Given the description of an element on the screen output the (x, y) to click on. 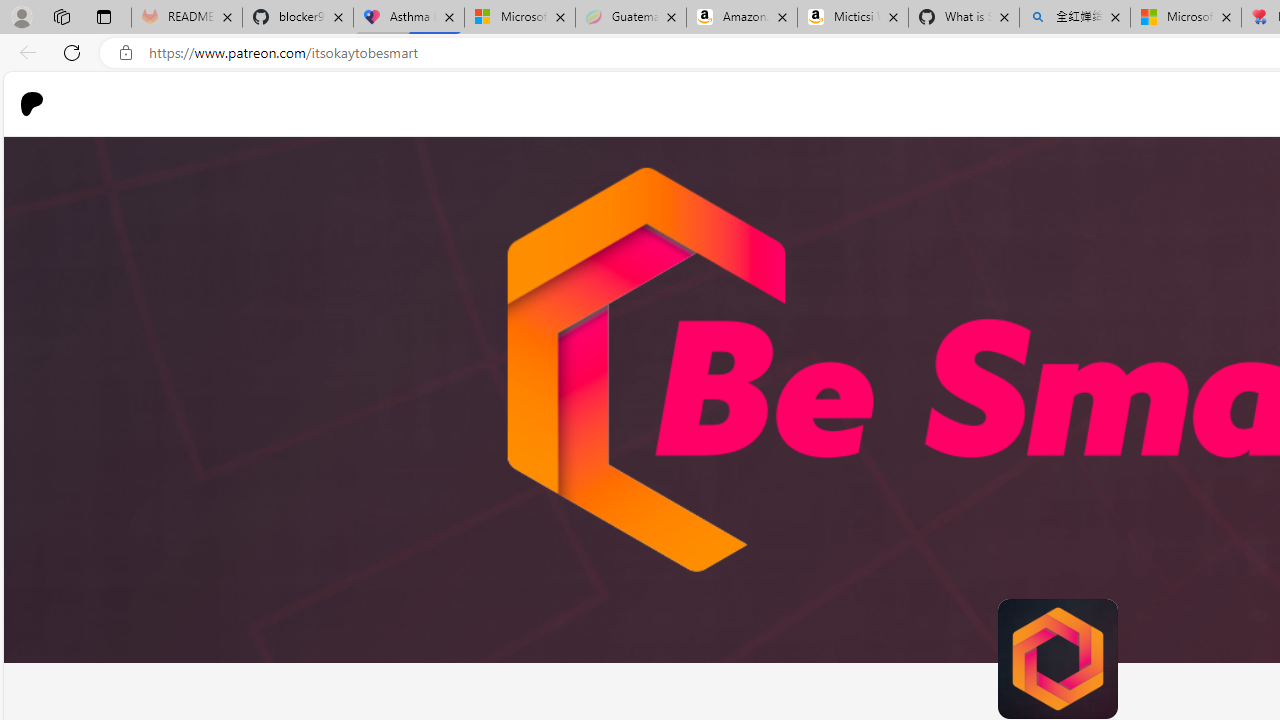
Microsoft-Report a Concern to Bing (519, 17)
Go to home page (40, 103)
Patreon logo (31, 103)
Asthma Inhalers: Names and Types (409, 17)
